Given the description of an element on the screen output the (x, y) to click on. 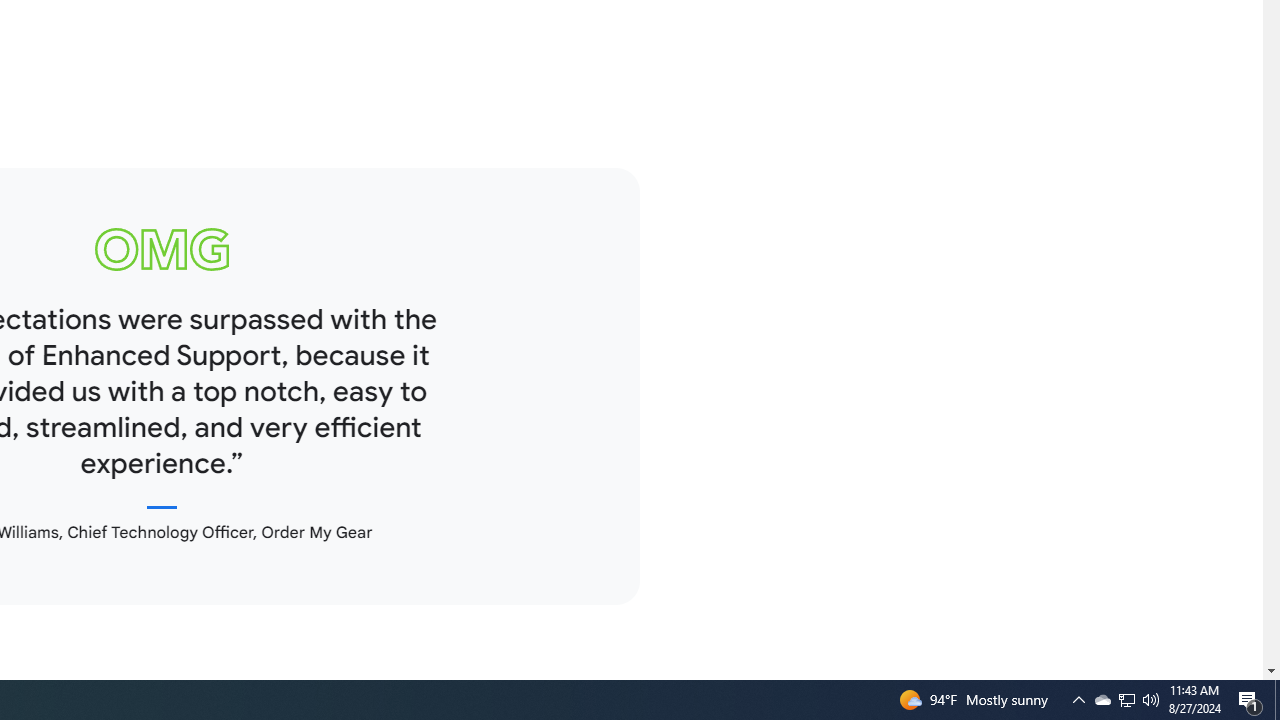
omg logo (161, 249)
